Given the description of an element on the screen output the (x, y) to click on. 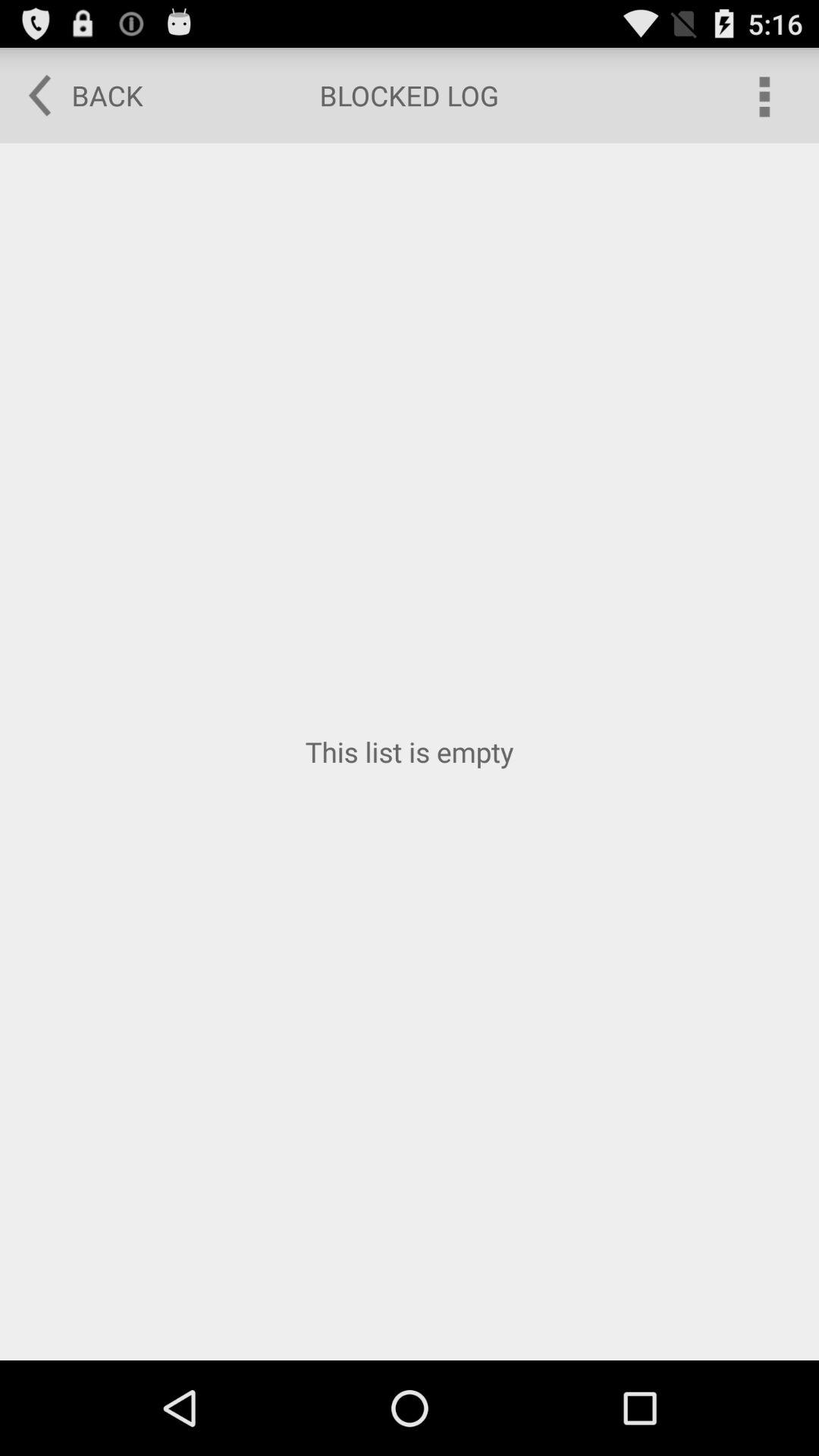
select icon next to blocked log app (763, 95)
